Given the description of an element on the screen output the (x, y) to click on. 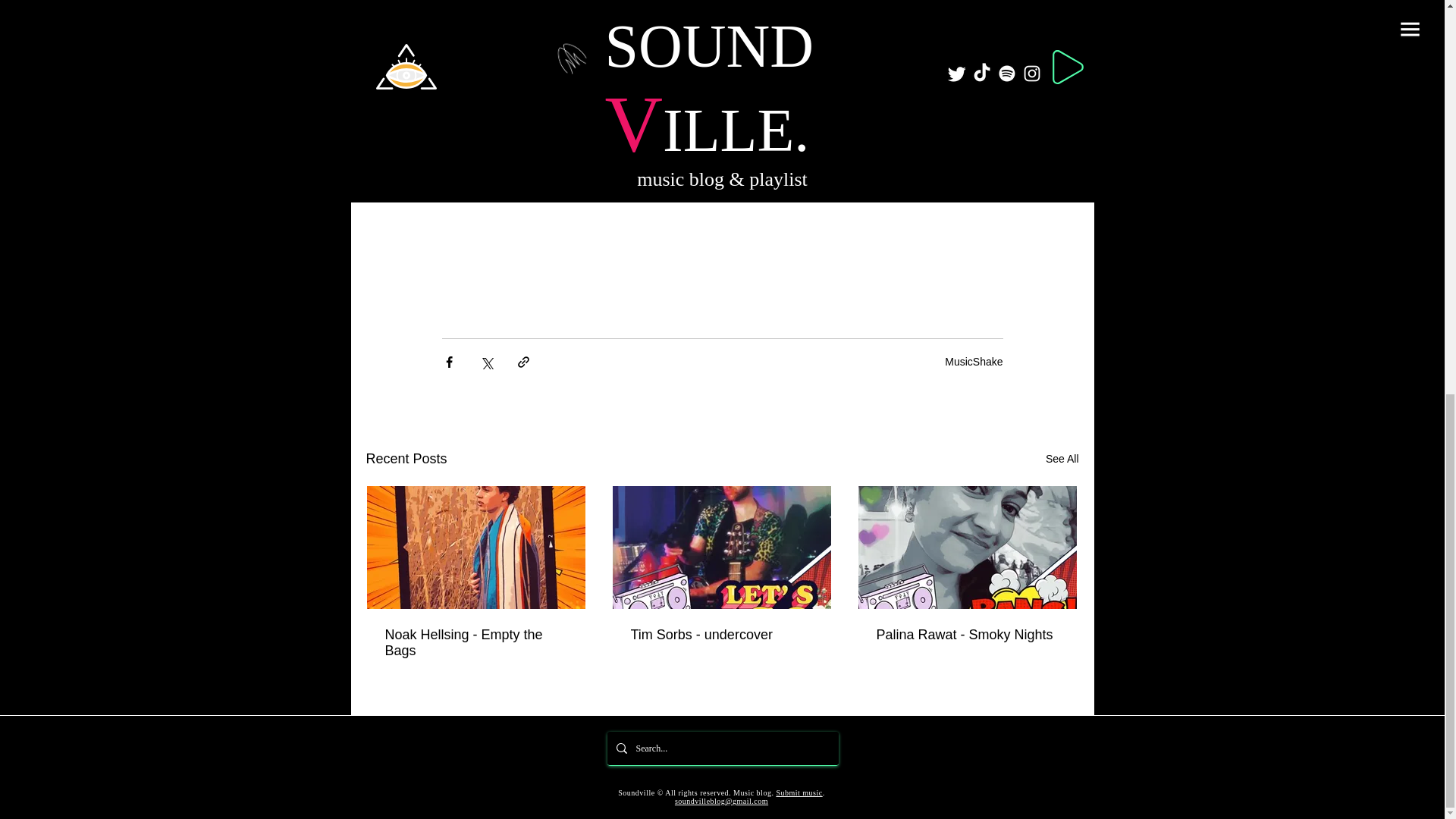
Tim Sorbs - undercover (721, 634)
Submit music (799, 792)
Palina Rawat - Smoky Nights (967, 634)
Noak Hellsing - Empty the Bags (476, 643)
MusicShake (973, 360)
See All (1061, 458)
